Given the description of an element on the screen output the (x, y) to click on. 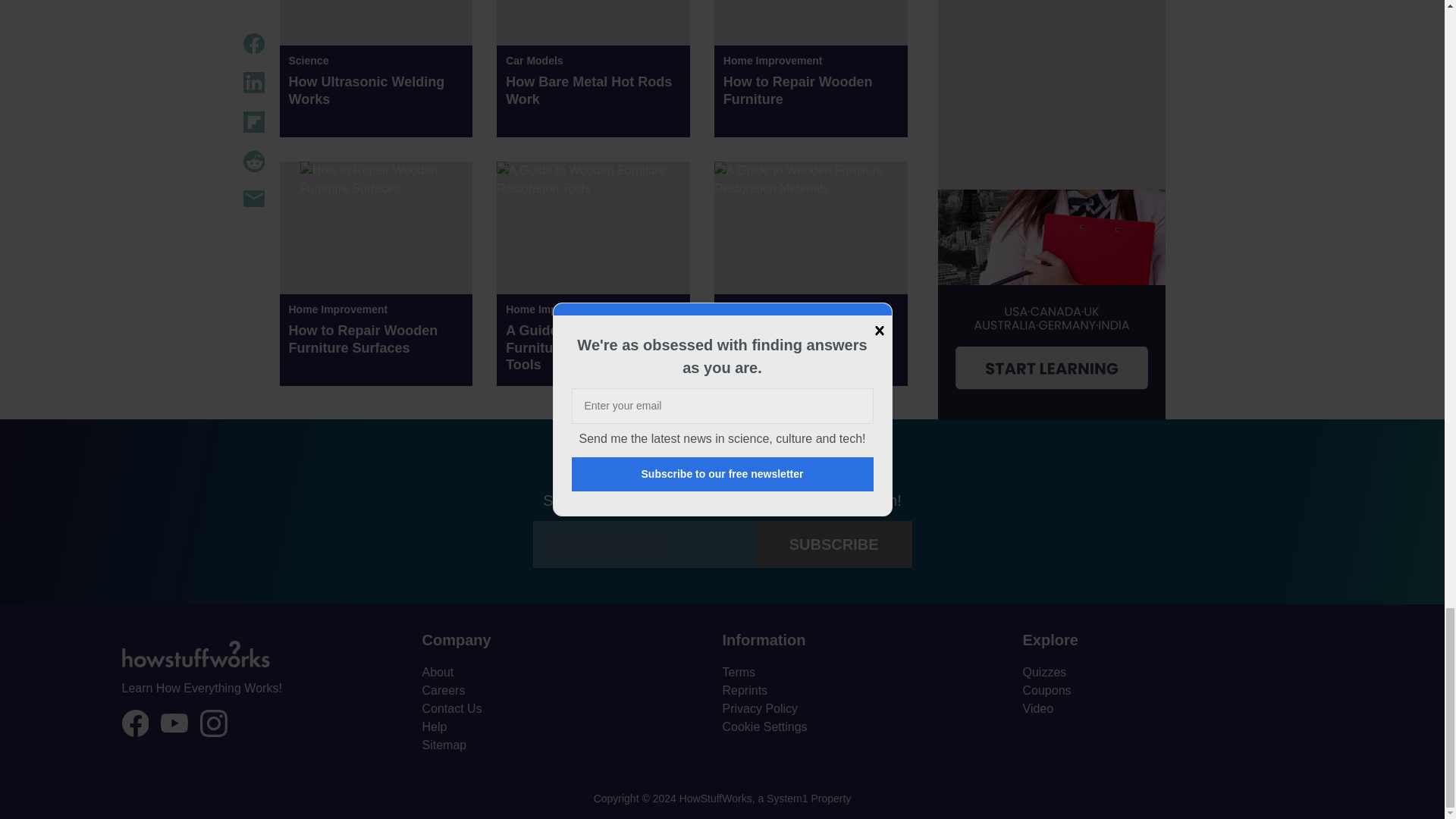
Visit HowStuffWorks on YouTube (173, 722)
Subscribe (833, 544)
Visit HowStuffWorks on Instagram (213, 723)
Visit HowStuffWorks on Facebook (134, 723)
